Given the description of an element on the screen output the (x, y) to click on. 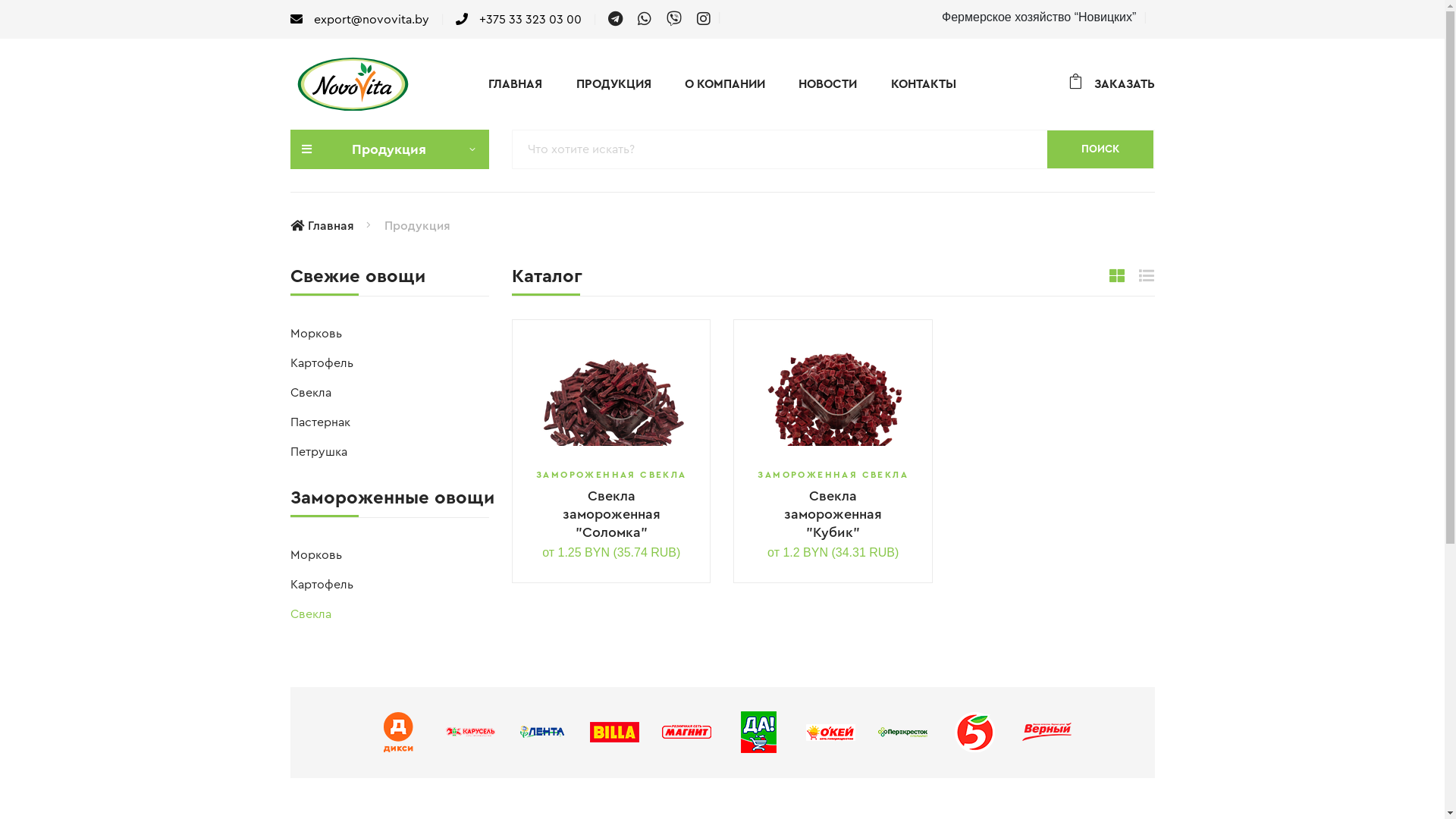
export@novovita.by Element type: text (358, 18)
+375 33 323 03 00 Element type: text (517, 18)
